Given the description of an element on the screen output the (x, y) to click on. 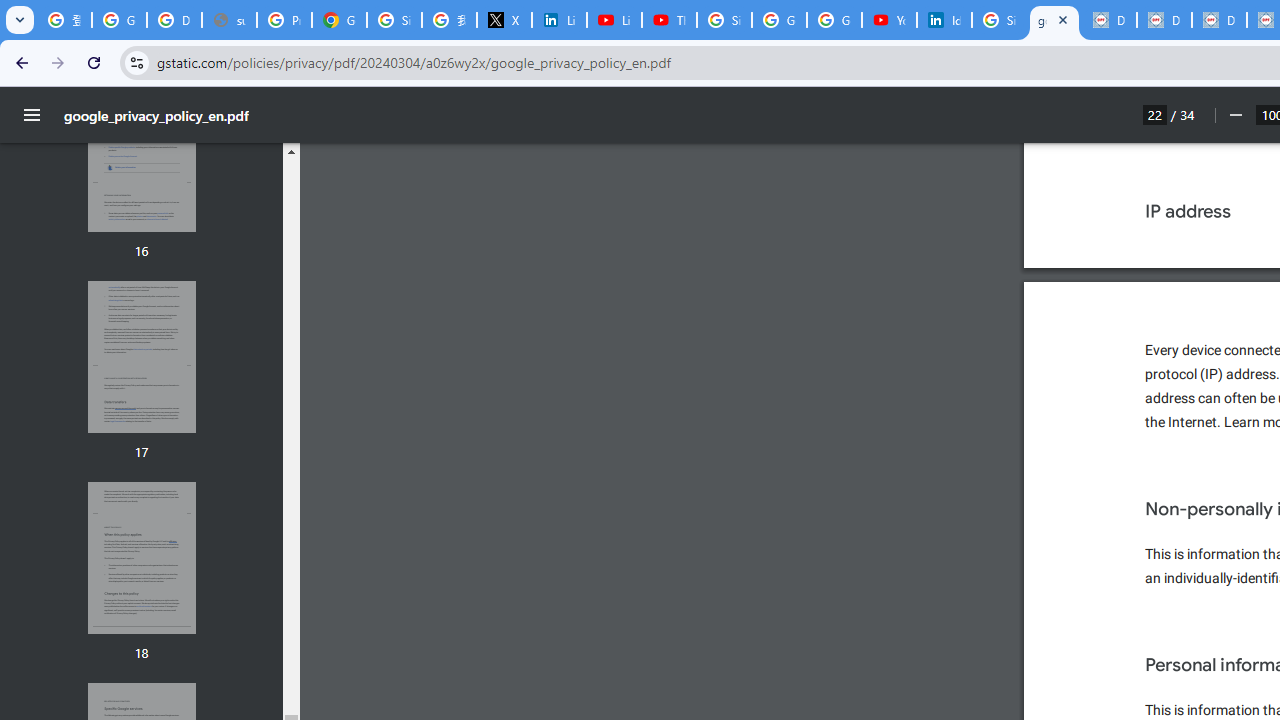
Data Privacy Framework (1108, 20)
Zoom out (1234, 115)
Data Privacy Framework (1218, 20)
Thumbnail for page 16 (141, 156)
AutomationID: thumbnail (141, 557)
Sign in - Google Accounts (394, 20)
Data Privacy Framework (1163, 20)
Sign in - Google Accounts (724, 20)
LinkedIn Privacy Policy (559, 20)
